Given the description of an element on the screen output the (x, y) to click on. 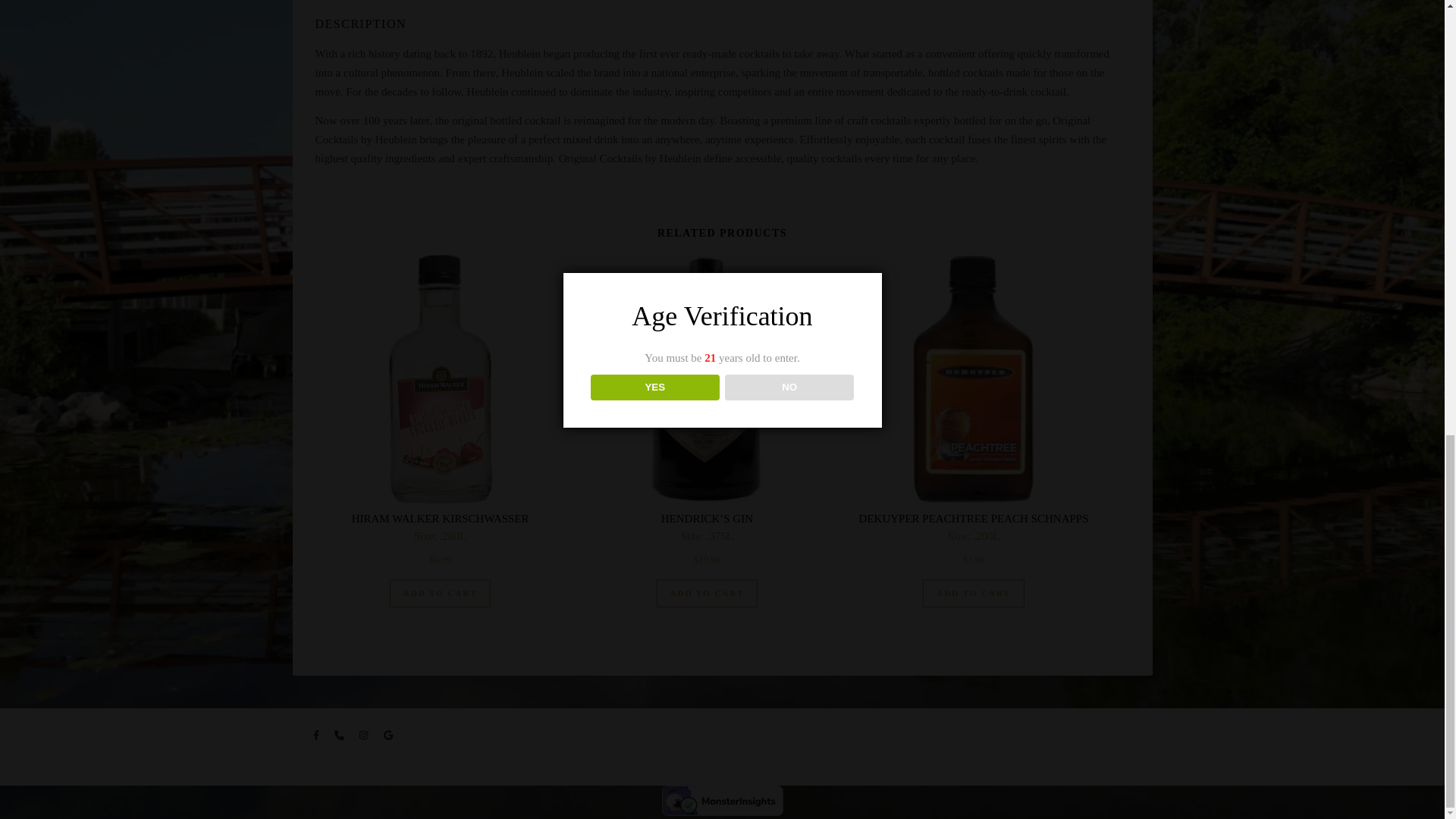
ADD TO CART (707, 593)
ADD TO CART (974, 593)
ADD TO CART (441, 593)
Verified by MonsterInsights (722, 800)
